Given the description of an element on the screen output the (x, y) to click on. 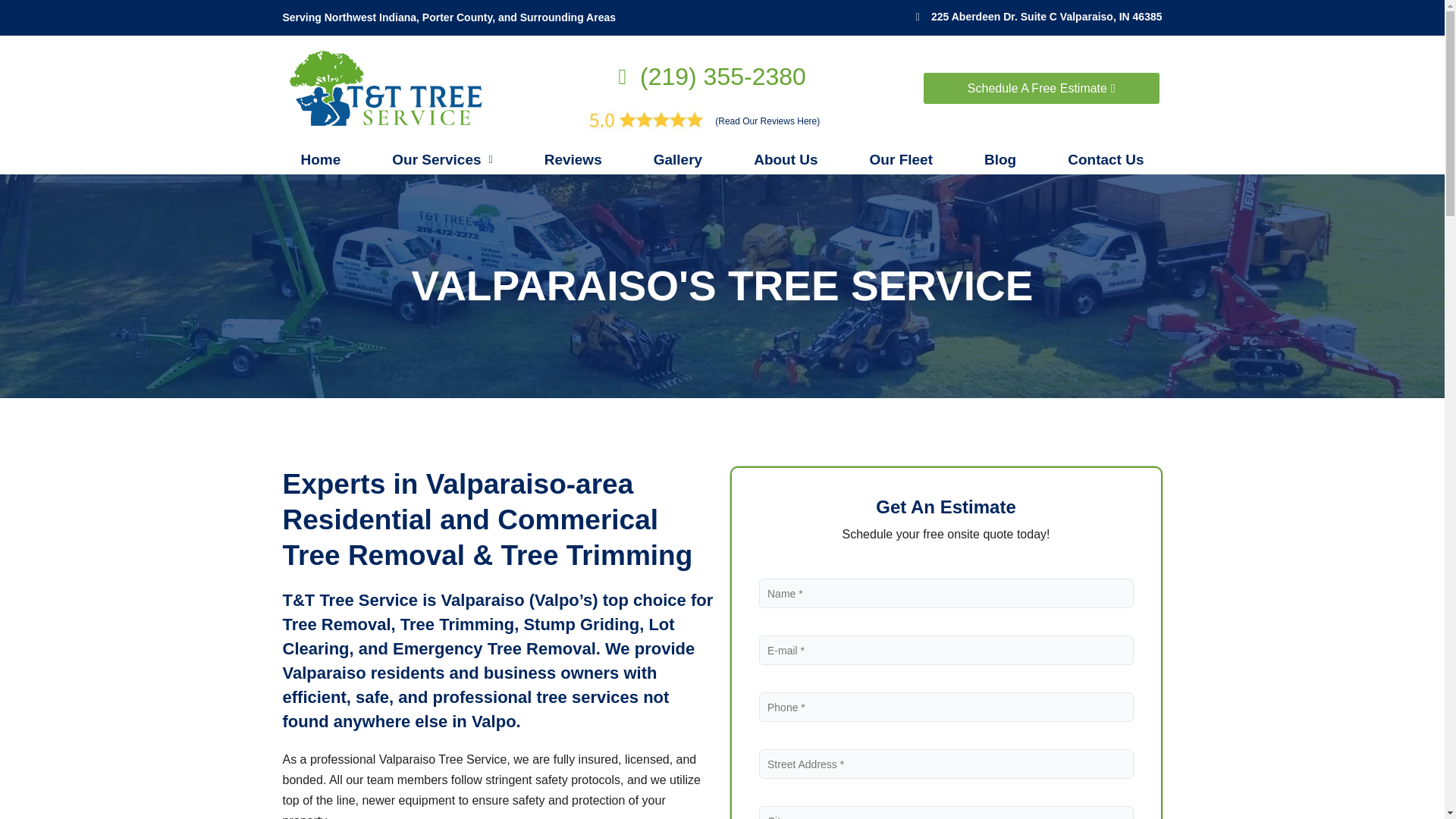
Schedule A Free Estimate (1040, 88)
